Given the description of an element on the screen output the (x, y) to click on. 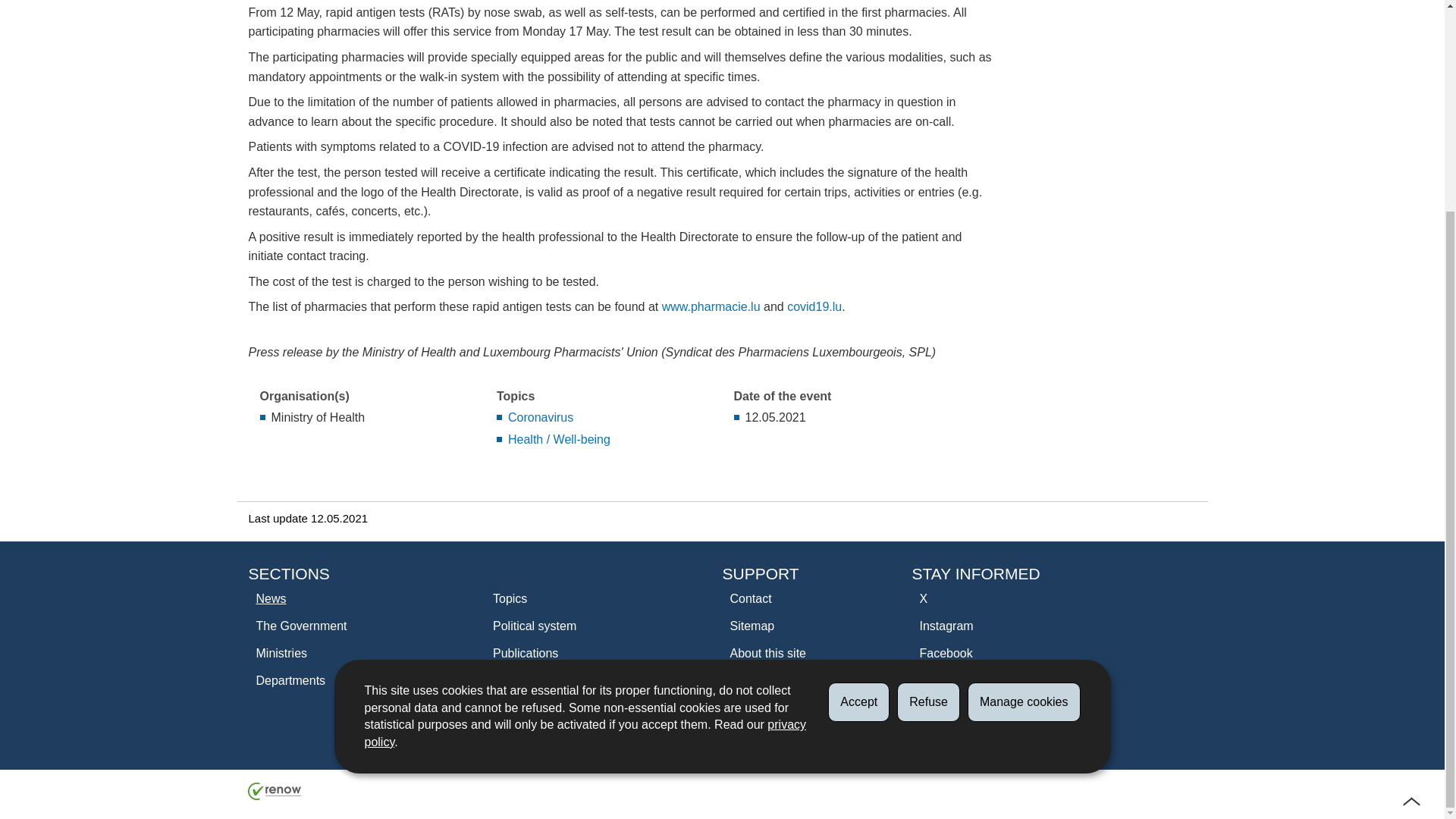
covid19.lu (814, 306)
Publications (579, 653)
The Government (343, 625)
privacy policy (585, 457)
covid19.lu - New window (814, 306)
Ministries (343, 653)
Refuse (927, 426)
Departments (343, 680)
Sitemap (797, 625)
www.pharmacie.lu (711, 306)
